Given the description of an element on the screen output the (x, y) to click on. 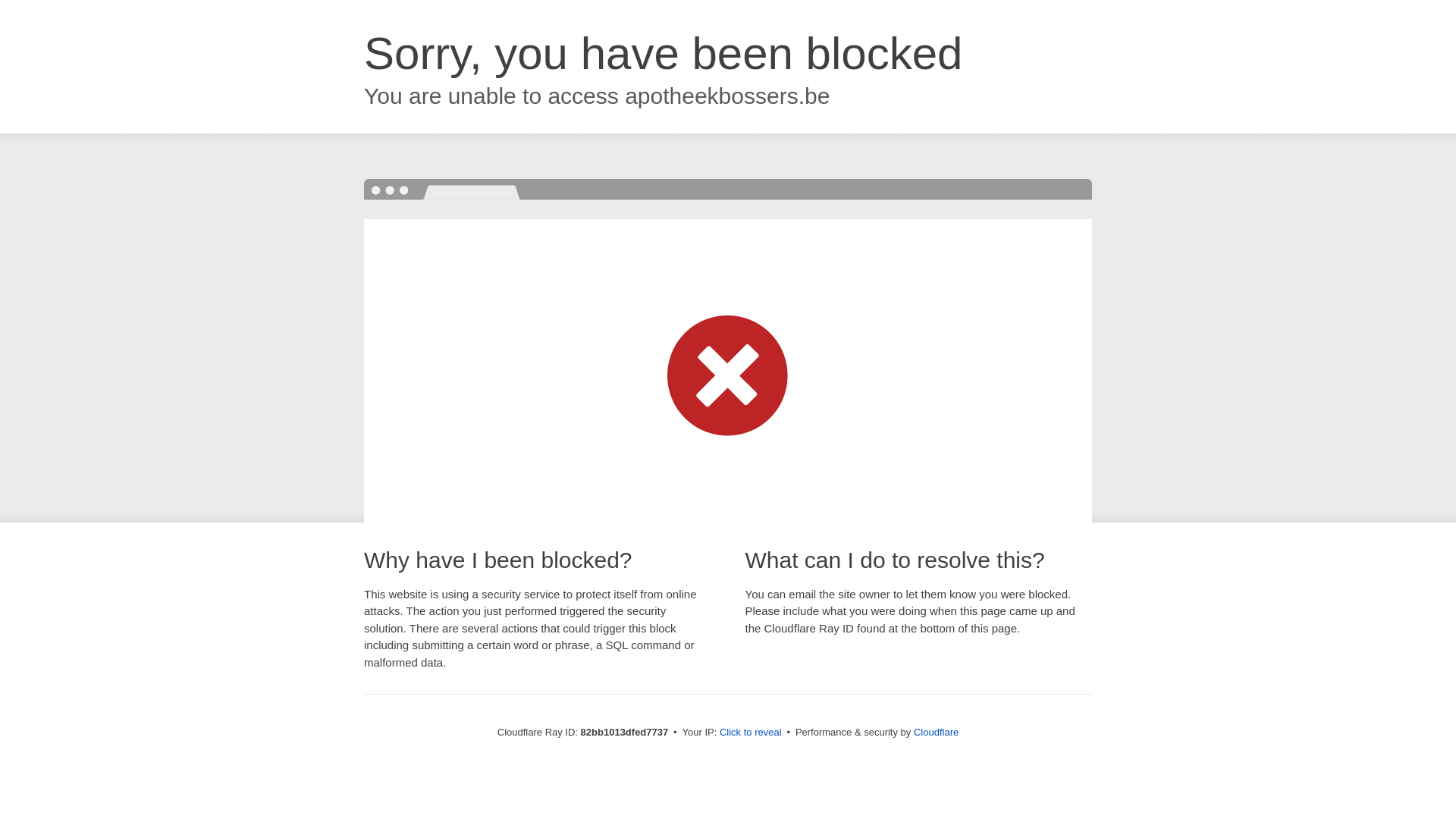
Click to reveal Element type: text (750, 732)
Cloudflare Element type: text (935, 731)
